Given the description of an element on the screen output the (x, y) to click on. 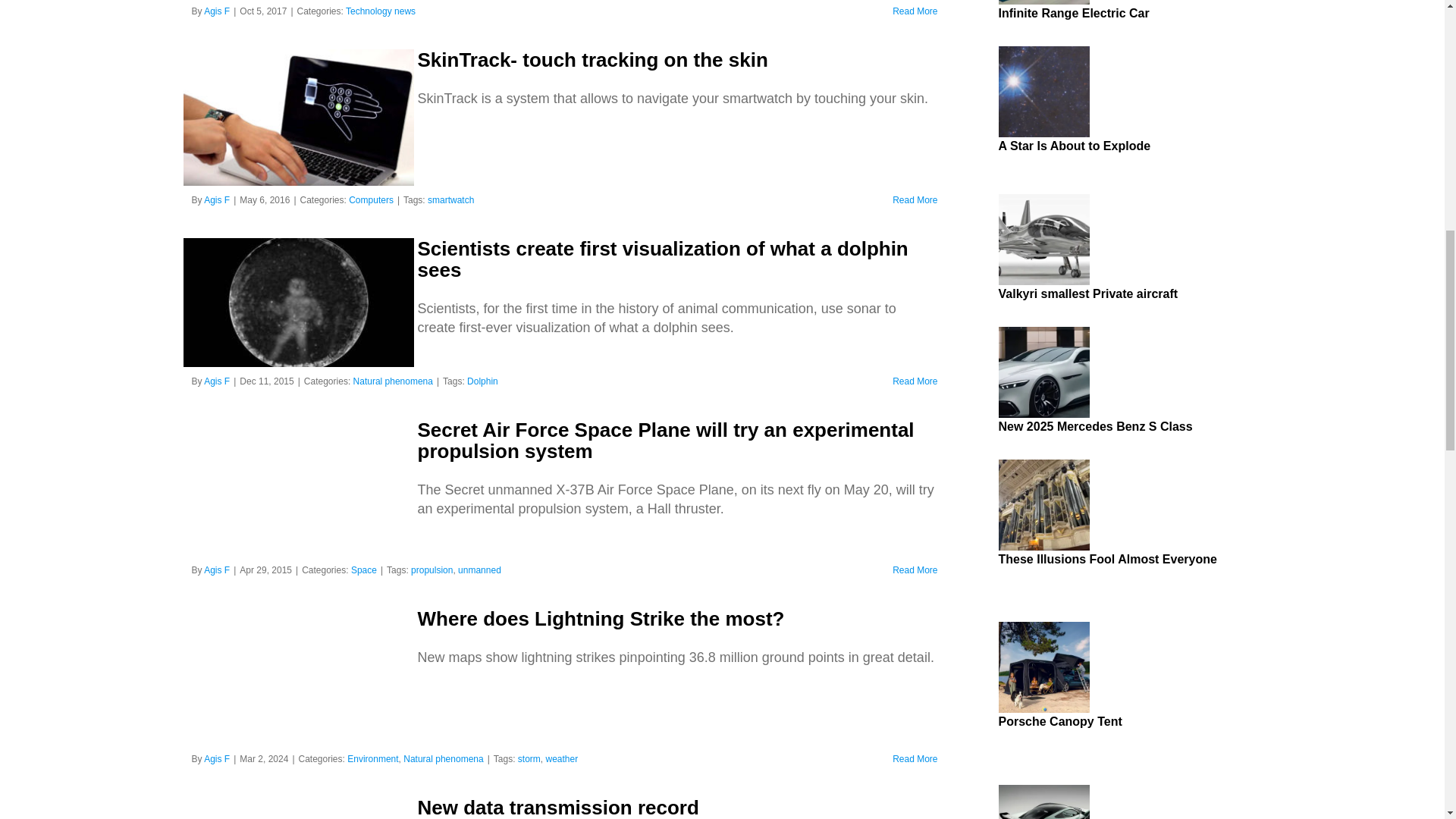
Posts by Agis F (216, 199)
Posts by Agis F (216, 10)
Posts by Agis F (216, 380)
SkinTrack- touch tracking on the skin 3 (298, 117)
